Given the description of an element on the screen output the (x, y) to click on. 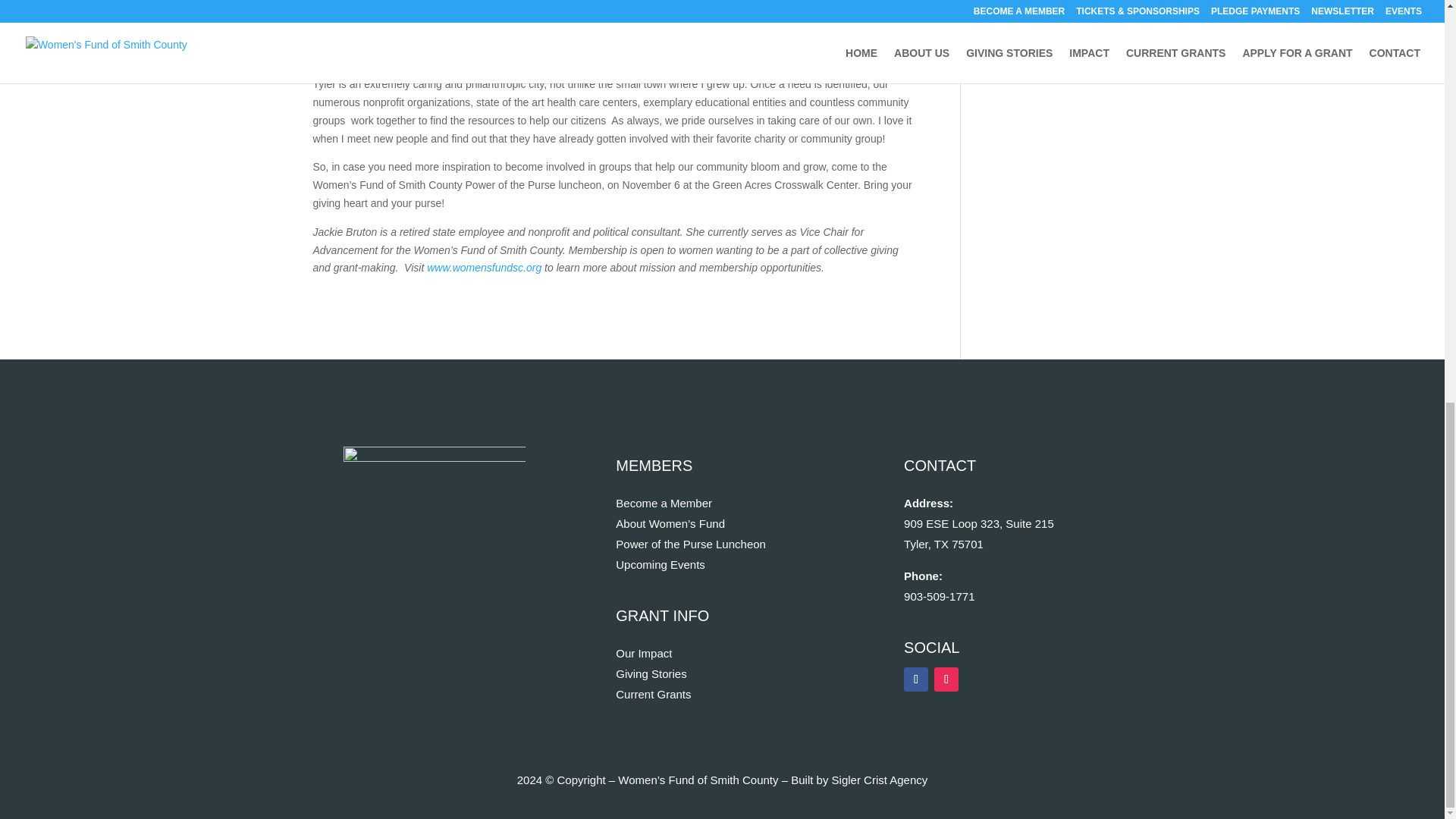
Giving Stories (650, 673)
Become a Member (663, 502)
www.womensfundsc.org (483, 267)
Follow on Facebook (916, 679)
Current Grants (652, 694)
Power of the Purse Luncheon (690, 543)
Our Impact (643, 653)
Follow on Instagram (946, 679)
Upcoming Events (659, 563)
903-509-1771 (939, 595)
